Given the description of an element on the screen output the (x, y) to click on. 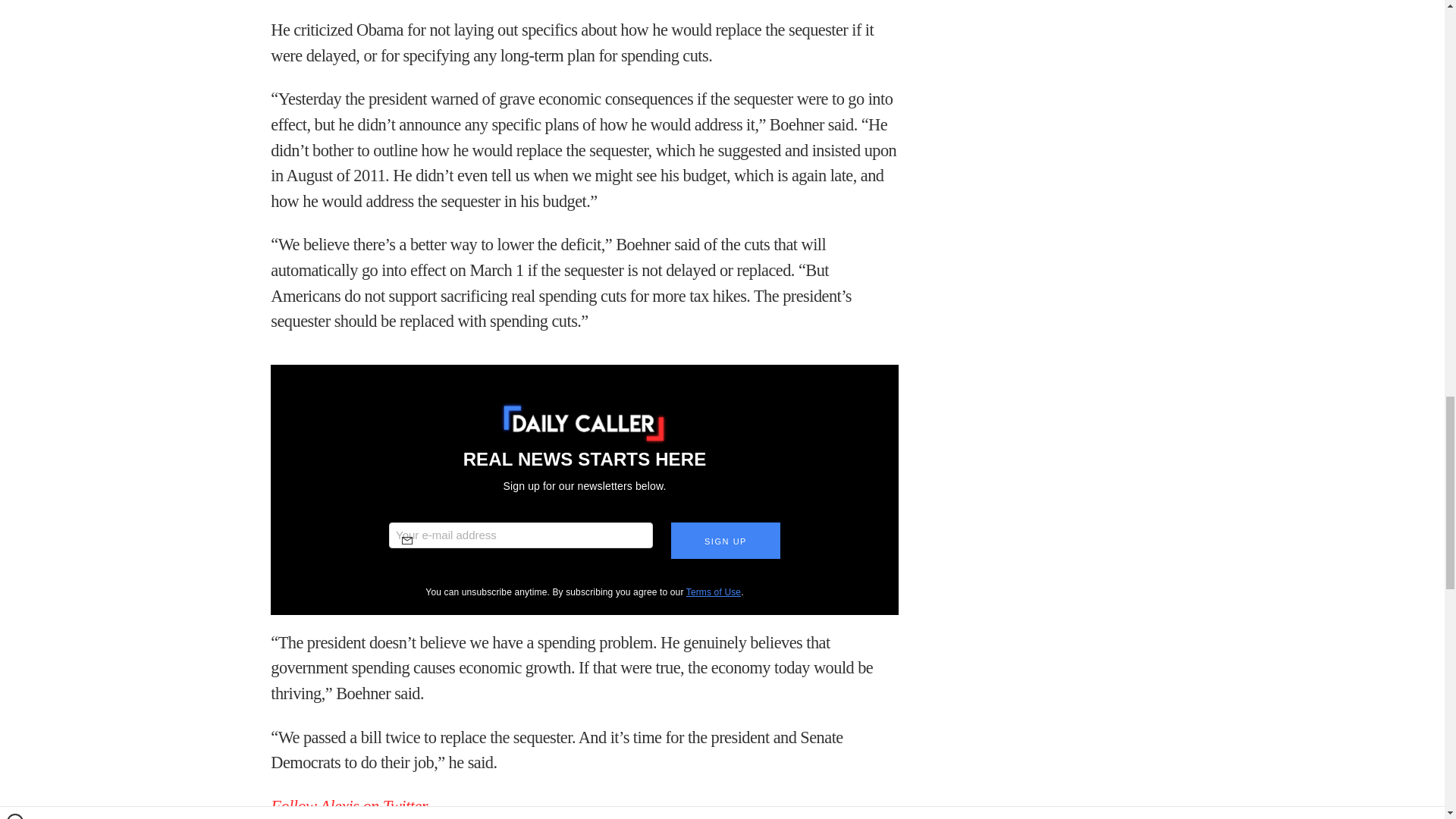
Follow Alexis on Twitter (349, 805)
